Given the description of an element on the screen output the (x, y) to click on. 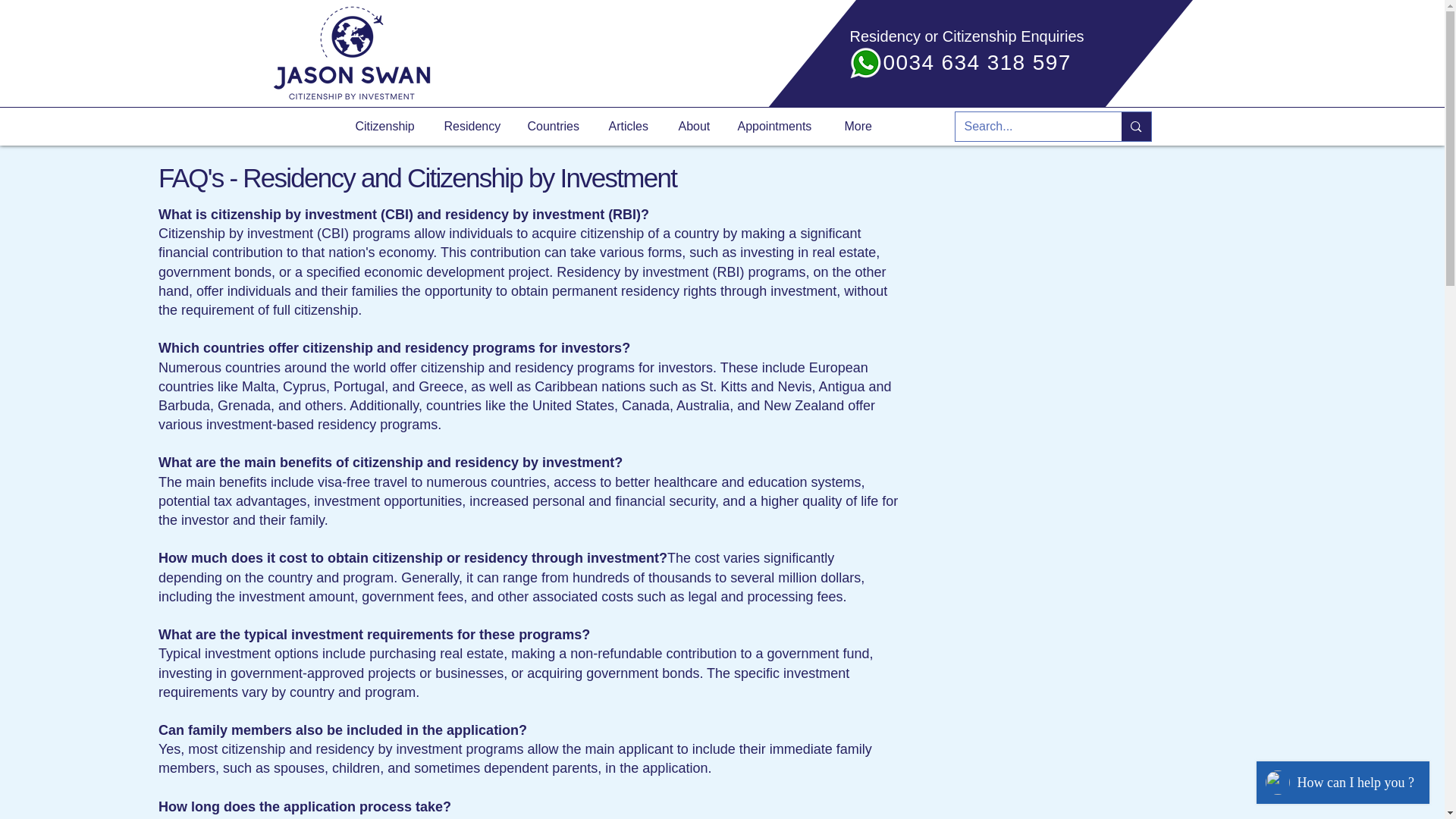
Countries (555, 126)
Appointments (779, 126)
About (696, 126)
0034 634 318 597 (976, 62)
